Given the description of an element on the screen output the (x, y) to click on. 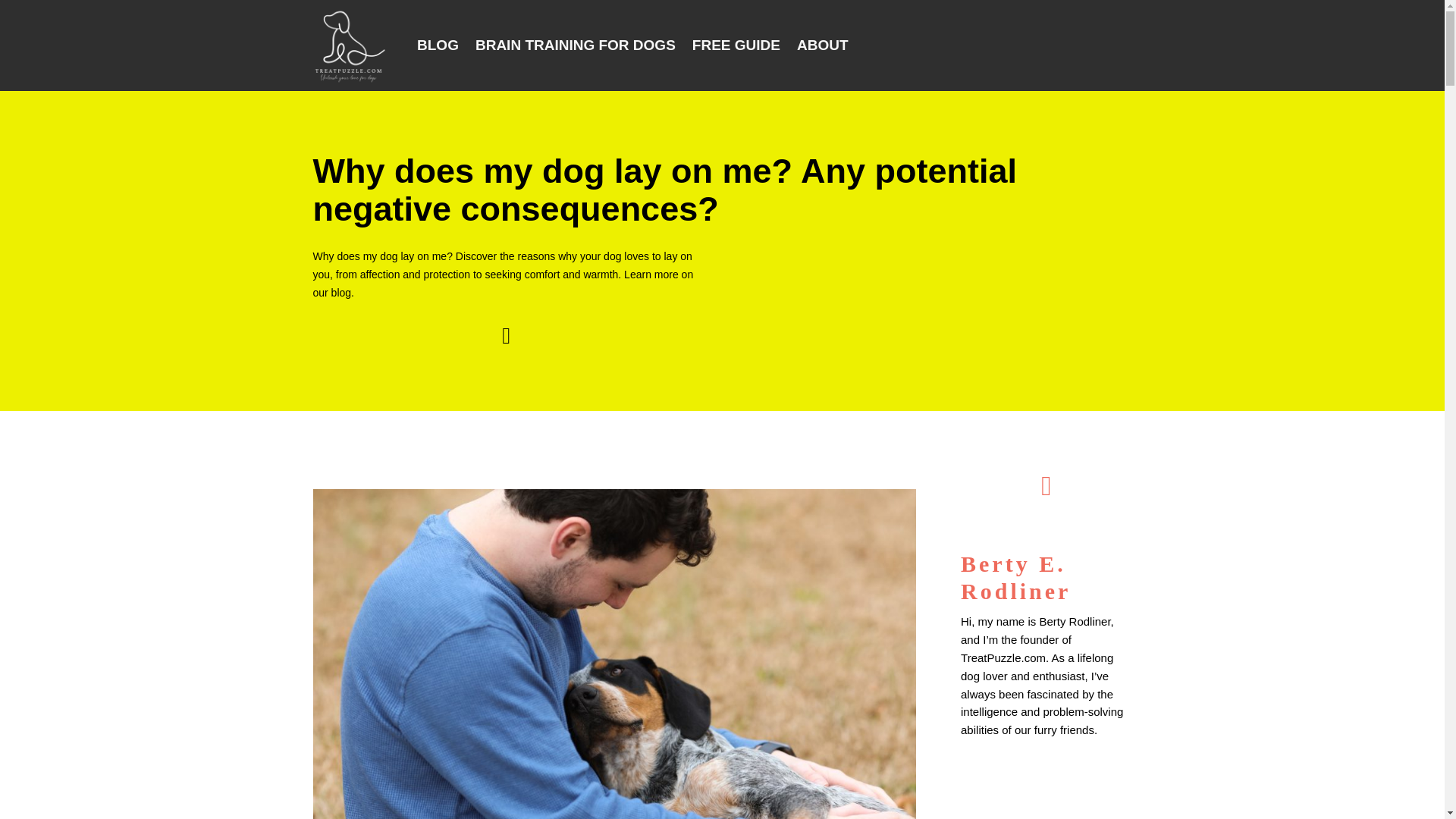
BRAIN TRAINING FOR DOGS (575, 45)
FREE GUIDE (736, 45)
Read more (988, 758)
